Given the description of an element on the screen output the (x, y) to click on. 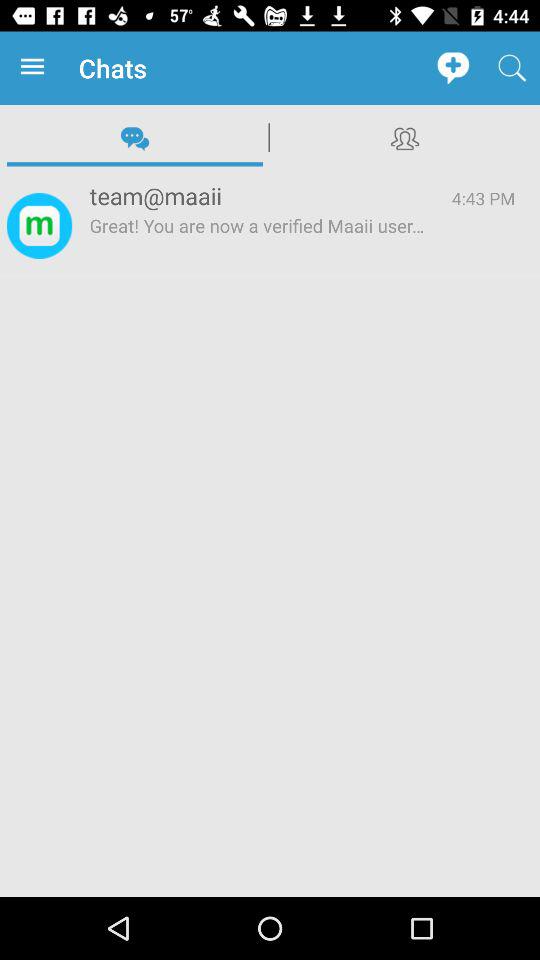
tap icon next to the team@maaii app (483, 198)
